Given the description of an element on the screen output the (x, y) to click on. 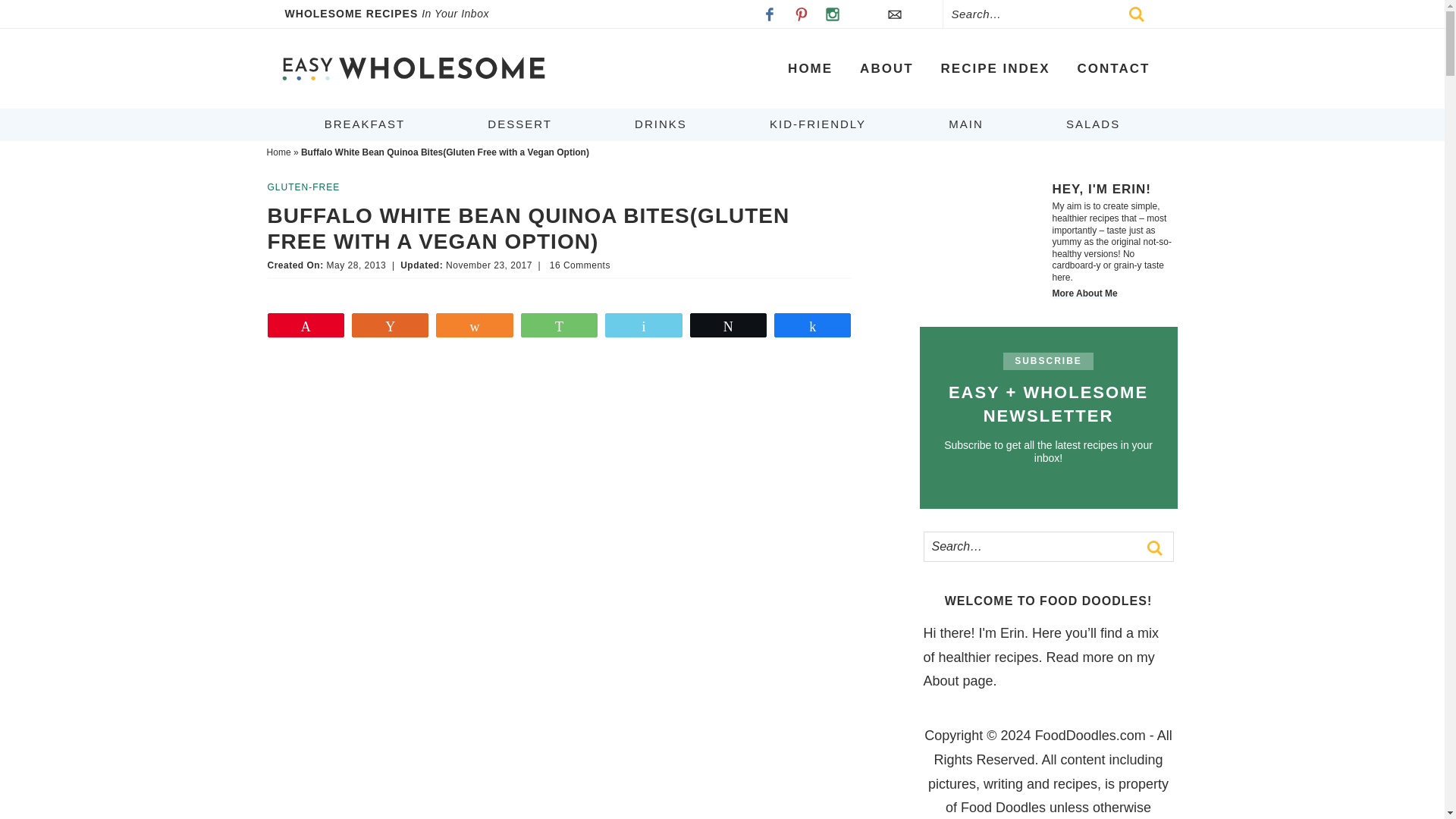
RECIPE INDEX (995, 68)
DRINKS (660, 124)
WHOLESOME RECIPES In Your Inbox (397, 13)
DESSERT (519, 124)
Search for (1047, 546)
HOME (809, 68)
Home (278, 152)
Search for (1053, 13)
EASY WHOLESOME (413, 68)
KID-FRIENDLY (817, 124)
CONTACT (1113, 68)
BREAKFAST (364, 124)
MAIN (965, 124)
ABOUT (885, 68)
